Given the description of an element on the screen output the (x, y) to click on. 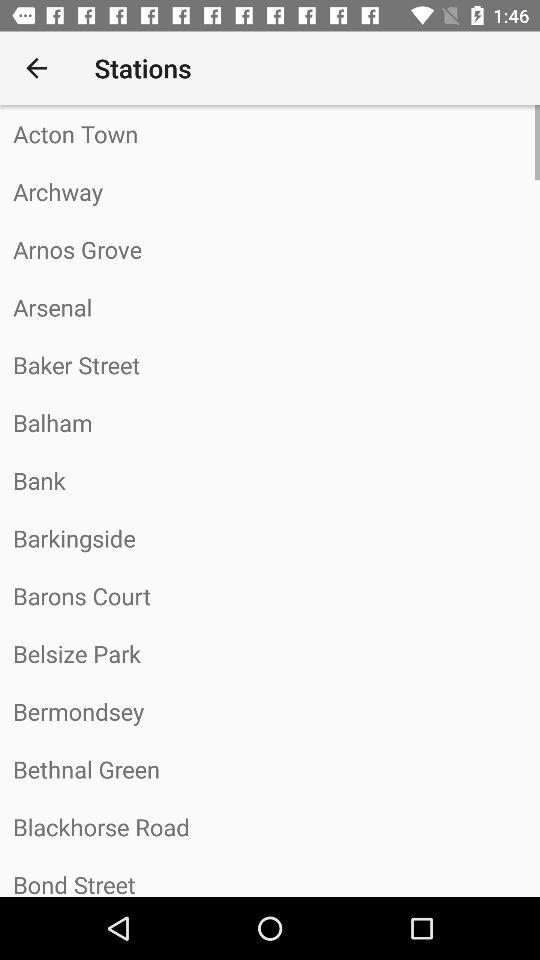
tap the bond street item (270, 875)
